Given the description of an element on the screen output the (x, y) to click on. 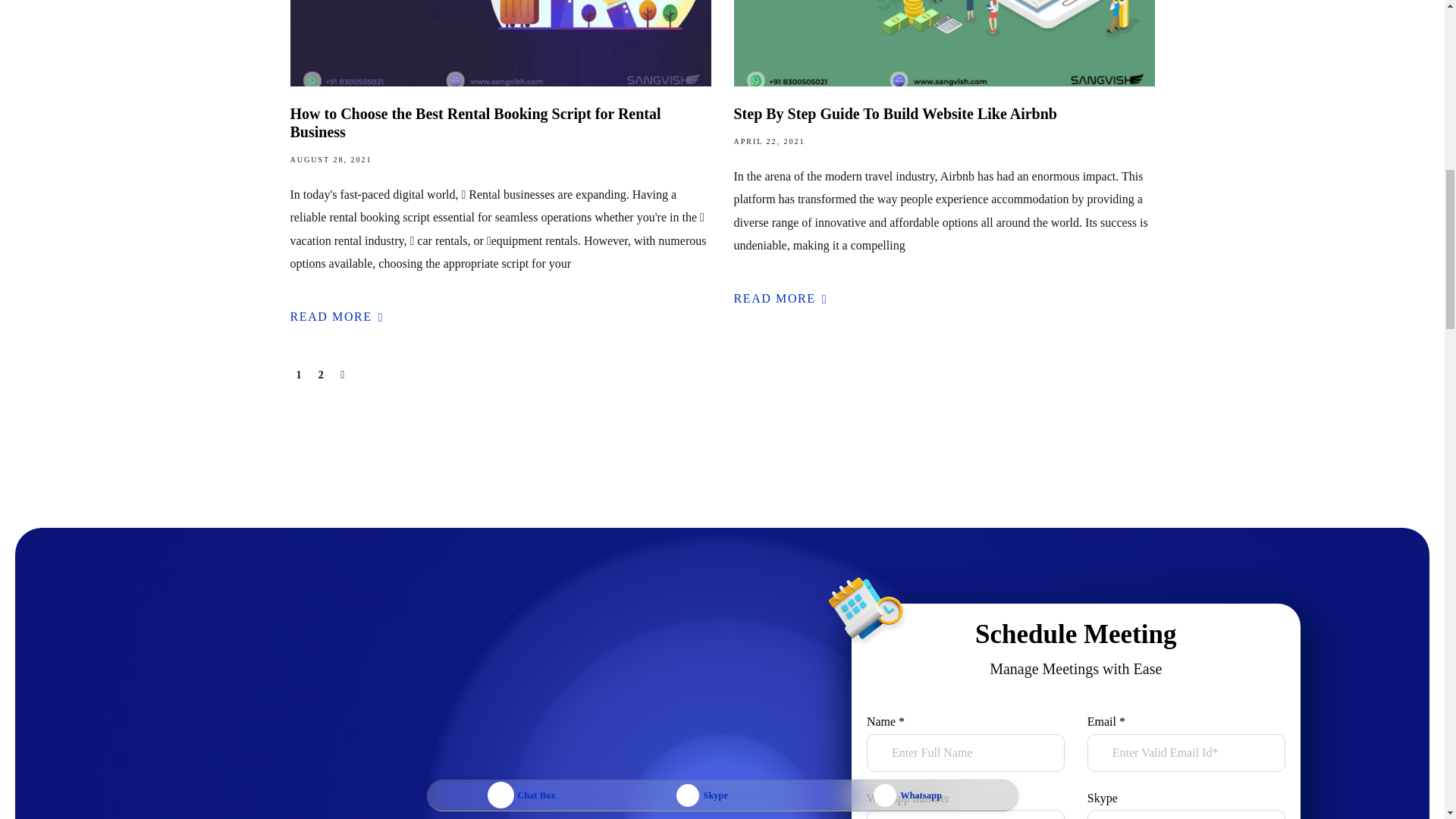
sales-process-infographic-2-1-666feae5bbe18 (863, 612)
